Given the description of an element on the screen output the (x, y) to click on. 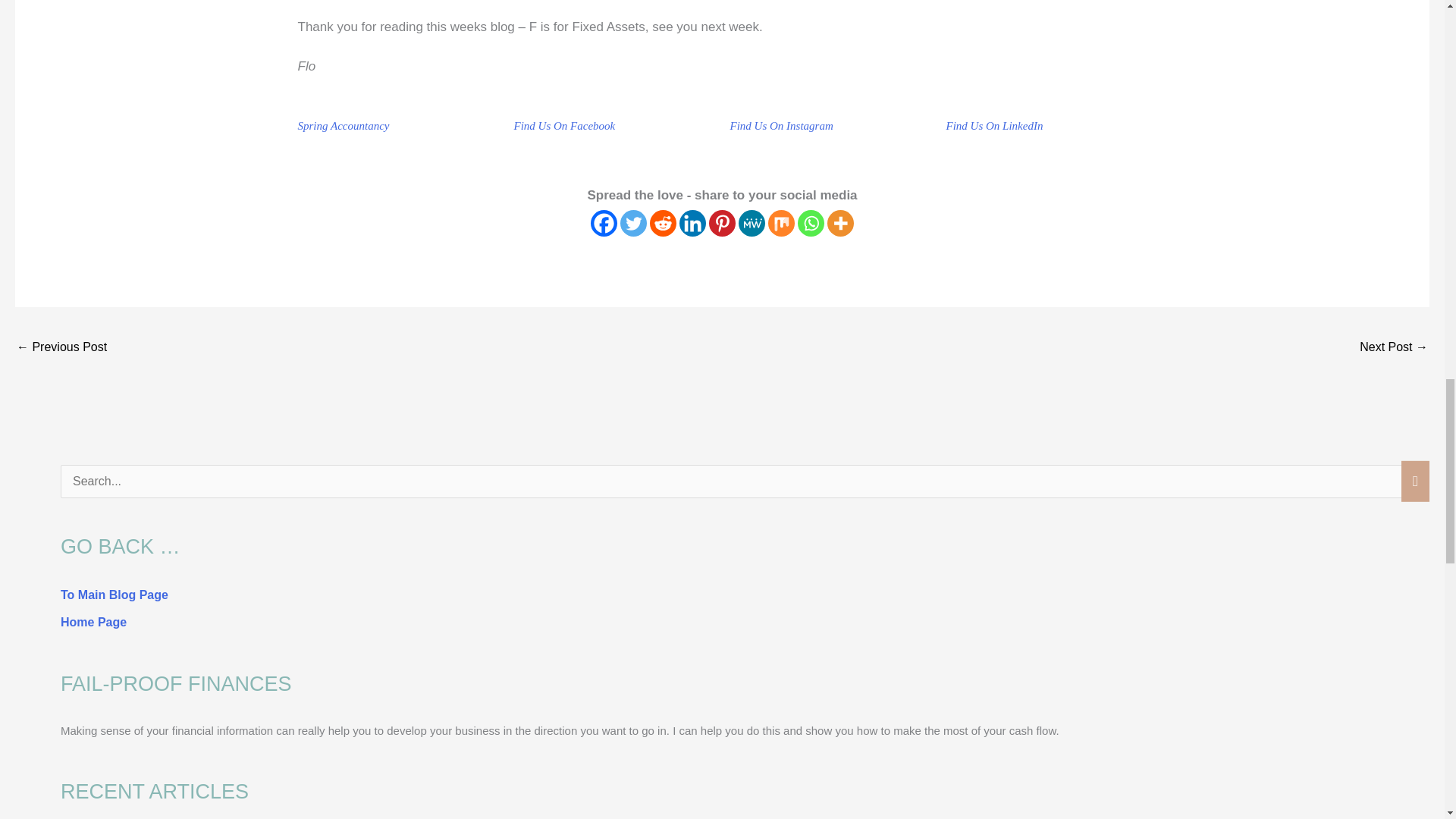
Whatsapp (810, 222)
G is for Gift Aid (1393, 348)
Find Us On Instagram (780, 125)
Reddit (663, 222)
To Main Blog Page (114, 594)
Pinterest (722, 222)
MeWe (751, 222)
Spring Accountancy (342, 125)
Twitter (633, 222)
Home Page (93, 621)
